Given the description of an element on the screen output the (x, y) to click on. 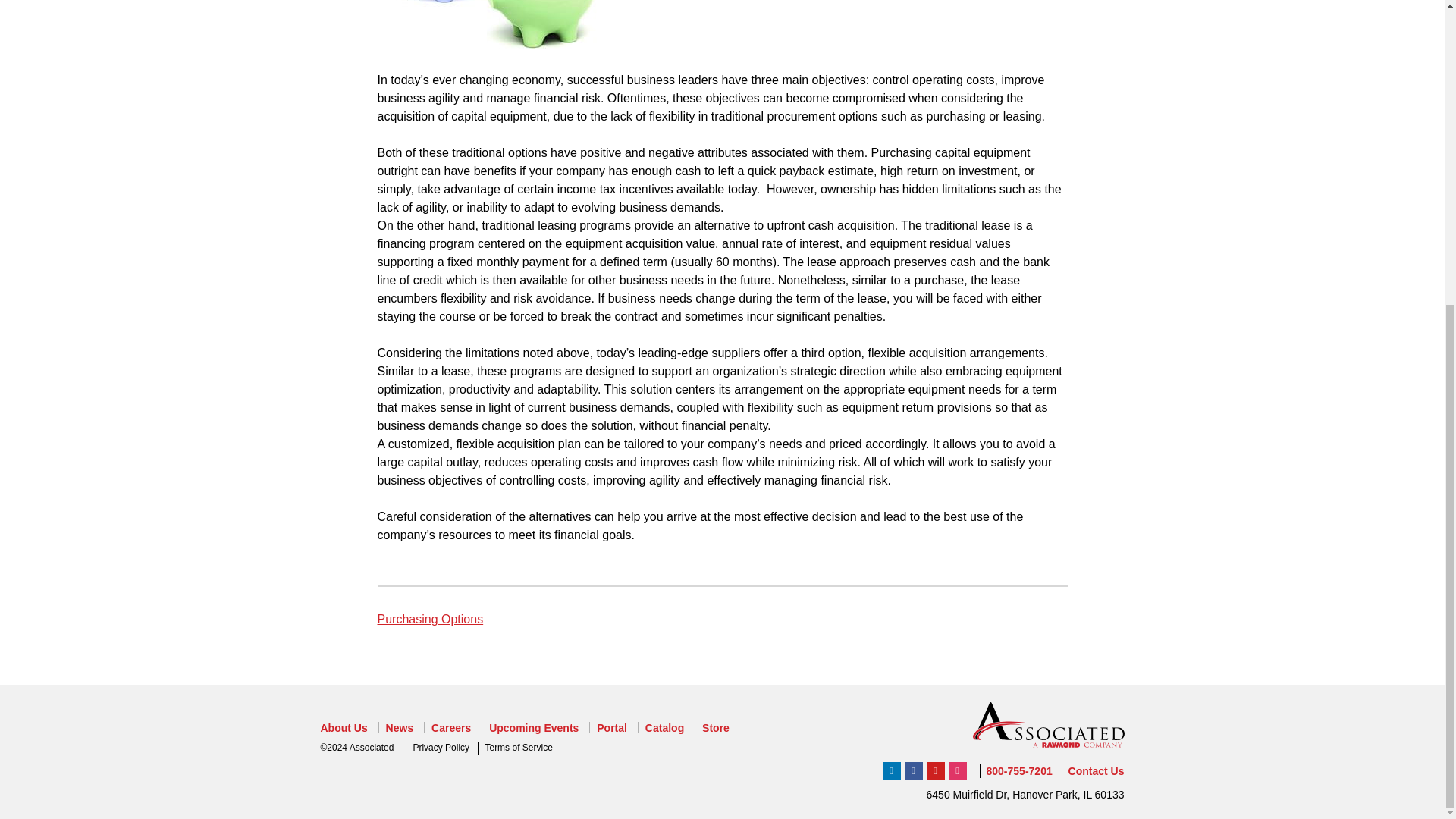
Connect with us on LinkedIn (891, 771)
Careers (450, 727)
Like us on Facebook (913, 771)
Follow us on YouTube (935, 771)
Follow us on Instagram  (957, 771)
Warehouse Product Catalog (664, 727)
Contact us (1096, 770)
